Given the description of an element on the screen output the (x, y) to click on. 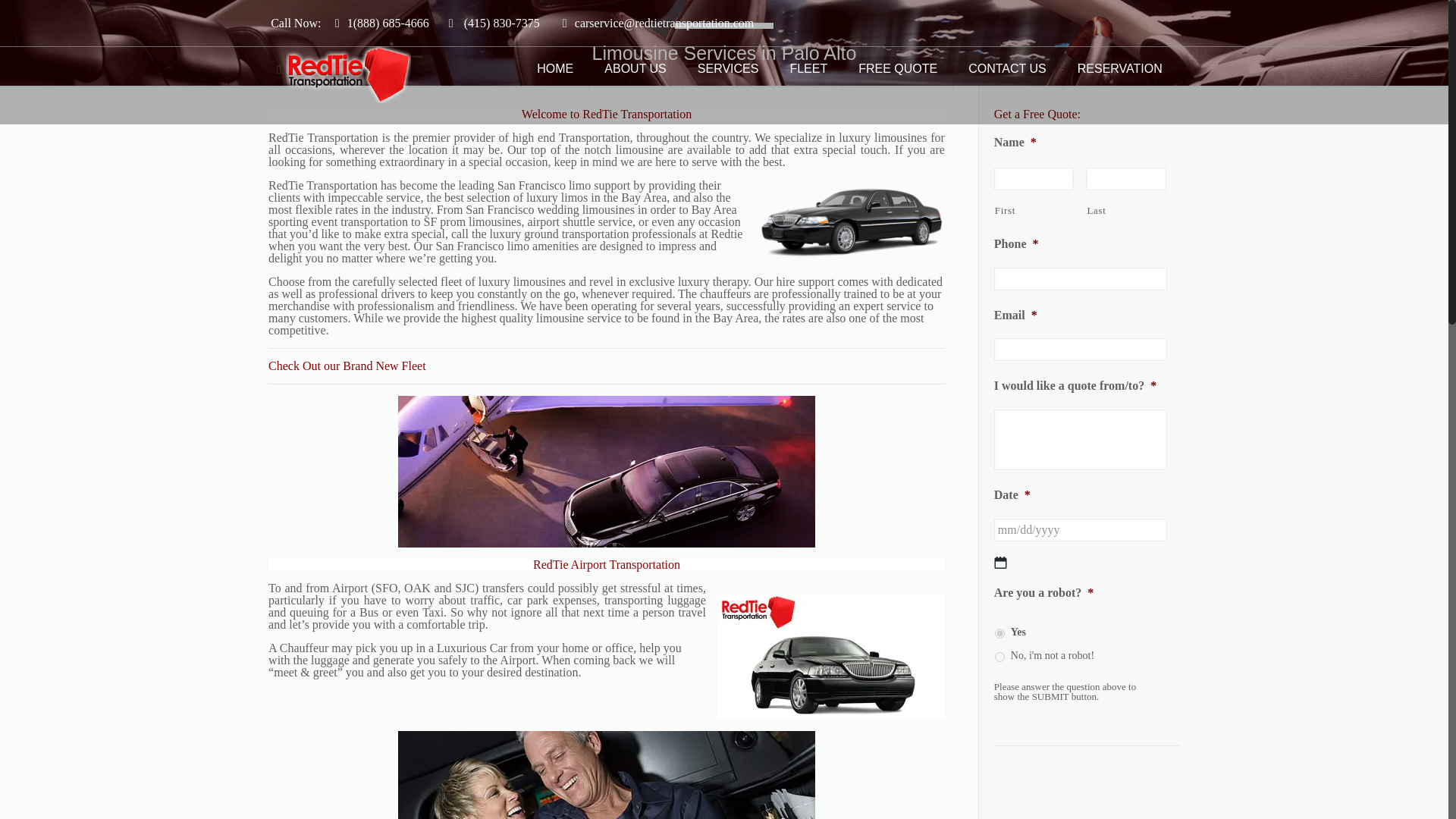
Twitter (319, 69)
sedan-towncar-limo (849, 219)
fleet1 (830, 656)
Select date (1000, 562)
FLEET (808, 68)
No, i'm not a robot! (999, 656)
HOME (555, 68)
SERVICES (728, 68)
airport (606, 471)
Facebook (278, 69)
RedTie Transportation (636, 113)
special (606, 775)
ABOUT US (635, 68)
CONTACT US (1007, 68)
Check Out our Brand New Fleet (346, 365)
